Given the description of an element on the screen output the (x, y) to click on. 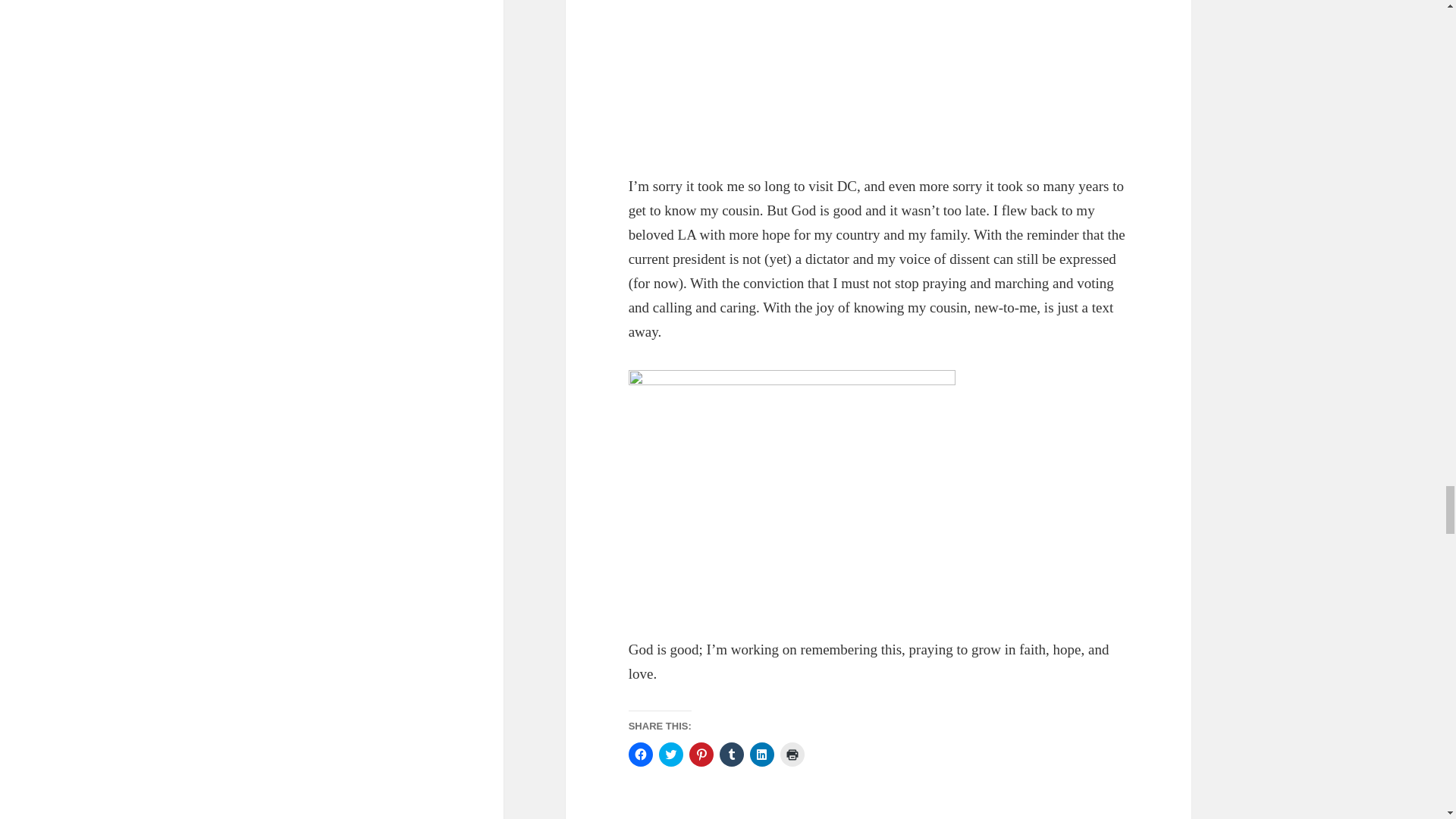
Click to share on LinkedIn (761, 754)
Click to share on Pinterest (700, 754)
Click to share on Tumblr (731, 754)
Click to share on Twitter (670, 754)
Click to share on Facebook (640, 754)
Click to print (792, 754)
